Given the description of an element on the screen output the (x, y) to click on. 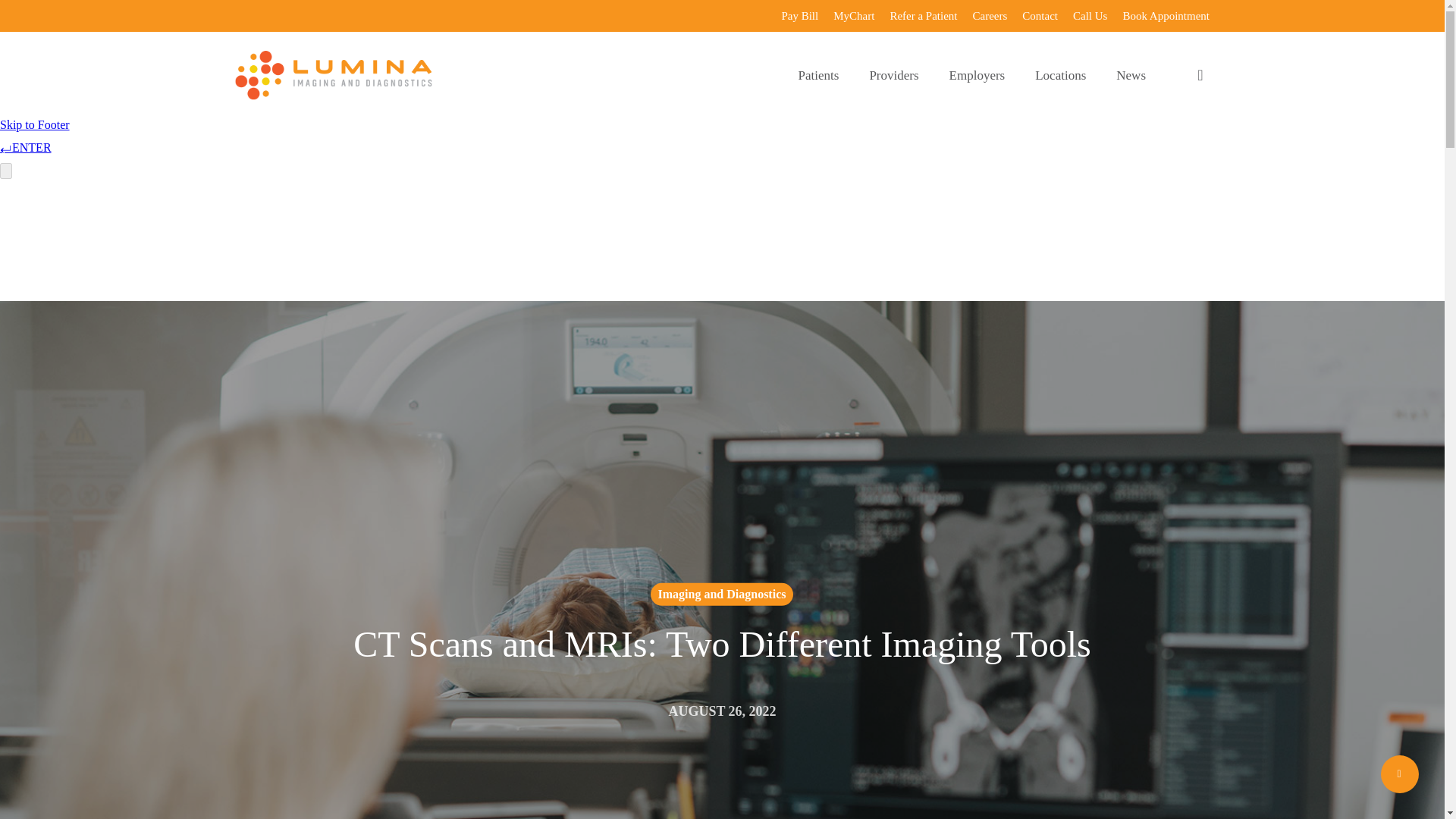
Call Us (1089, 16)
Employers (977, 75)
Contact (1040, 16)
Refer a Patient (922, 16)
Pay Bill (799, 16)
Book Appointment (1165, 16)
MyChart (853, 16)
search (1200, 75)
Patients (818, 75)
Locations (1060, 75)
News (1130, 75)
Careers (989, 16)
Providers (893, 75)
